Given the description of an element on the screen output the (x, y) to click on. 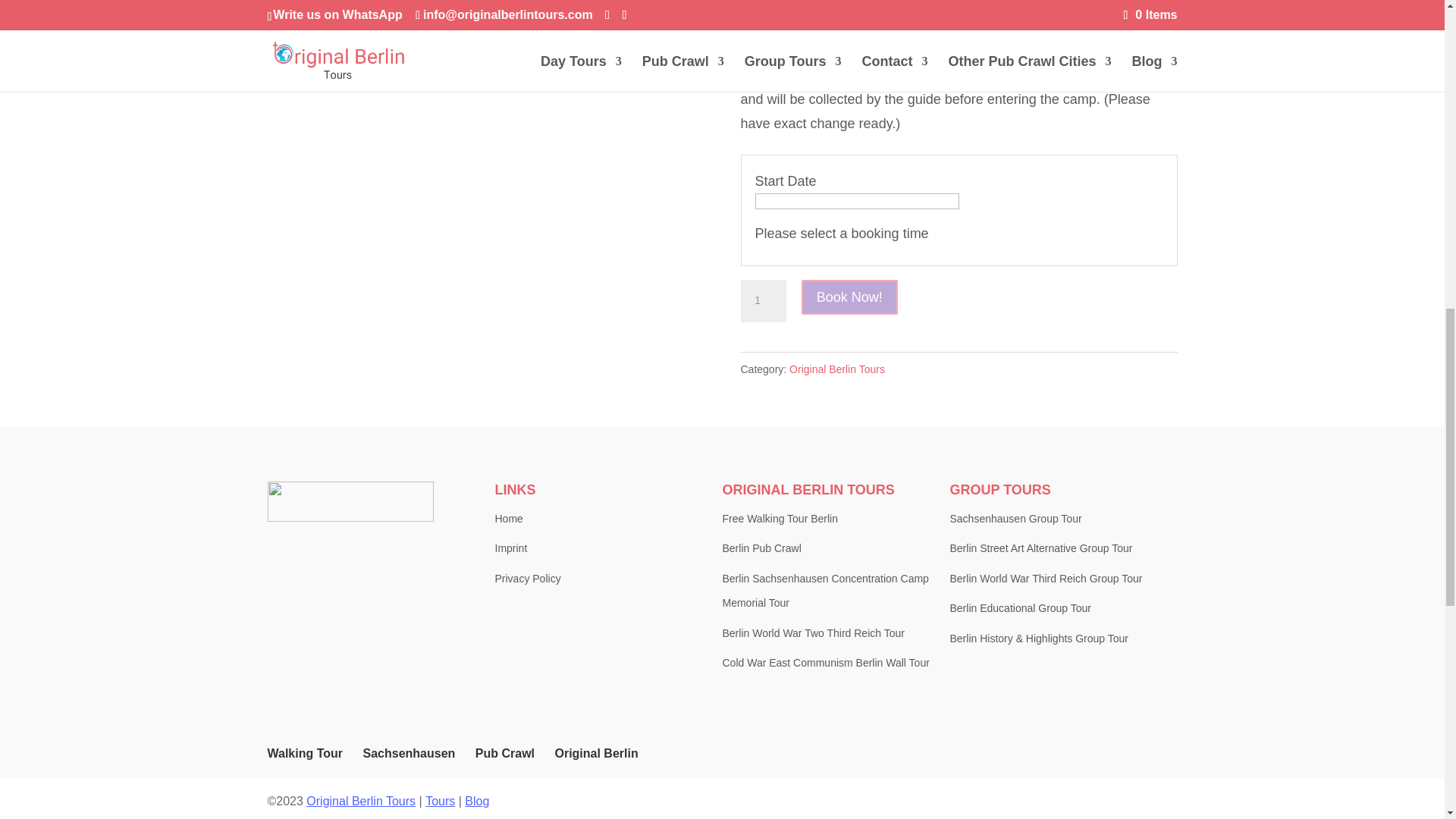
1 (762, 301)
